Given the description of an element on the screen output the (x, y) to click on. 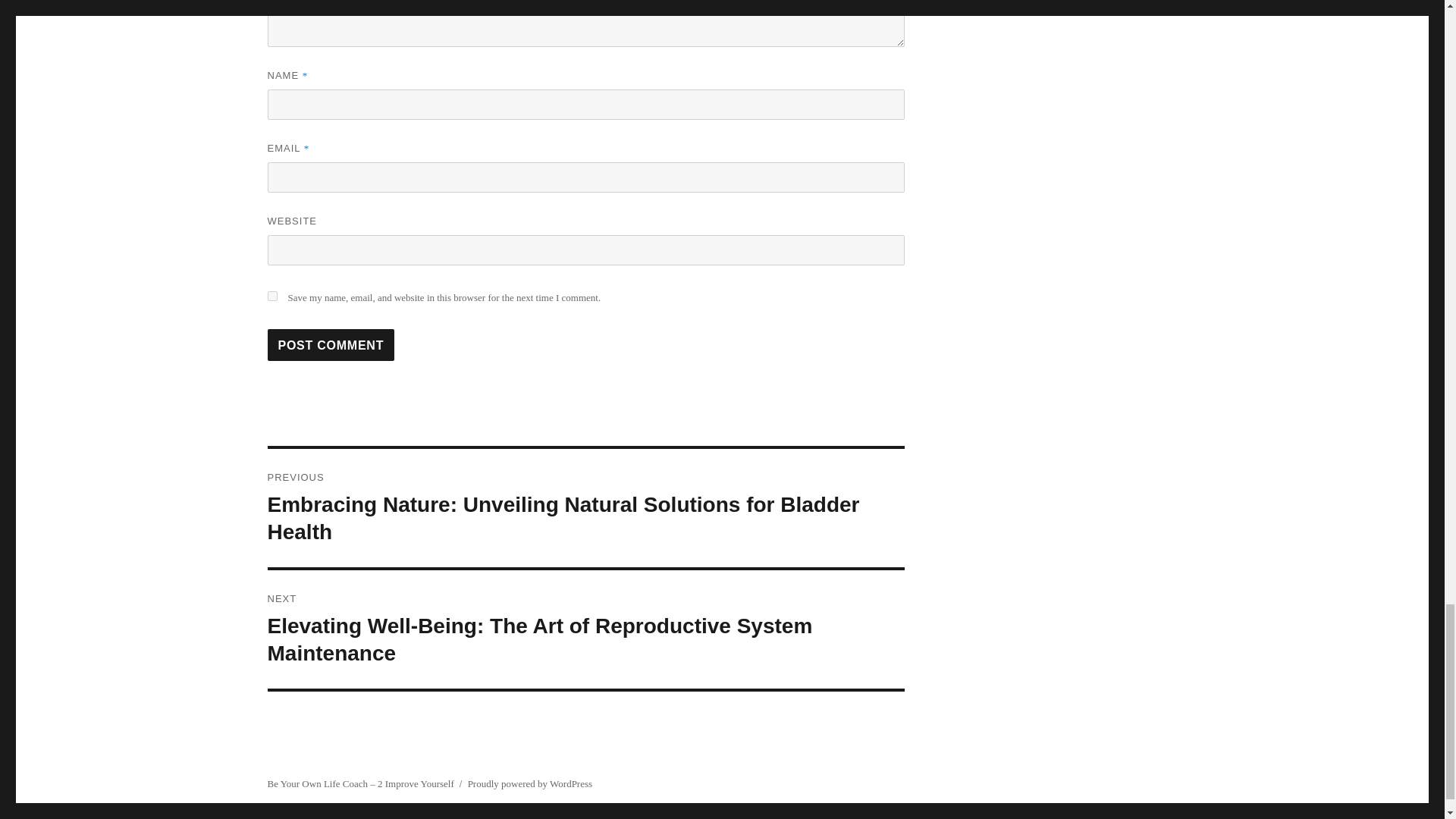
Post Comment (330, 345)
Post Comment (330, 345)
yes (271, 296)
